Given the description of an element on the screen output the (x, y) to click on. 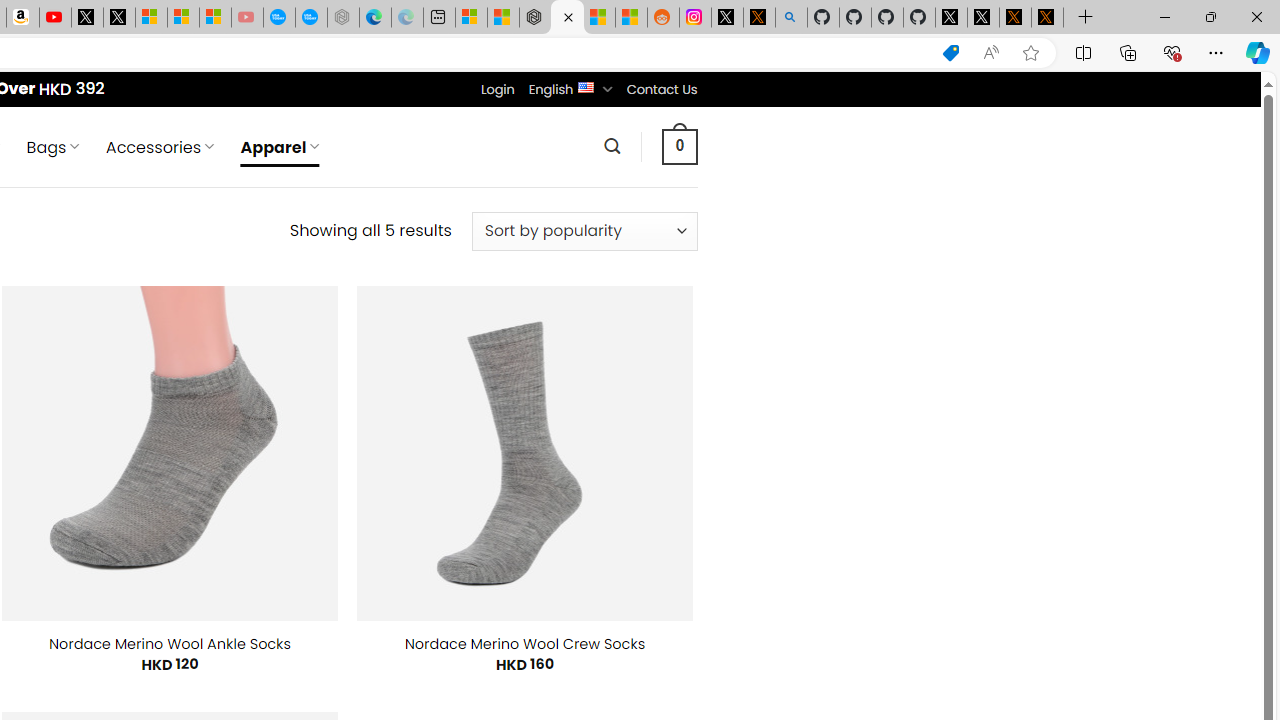
Nordace - Nordace has arrived Hong Kong - Sleeping (343, 17)
